Given the description of an element on the screen output the (x, y) to click on. 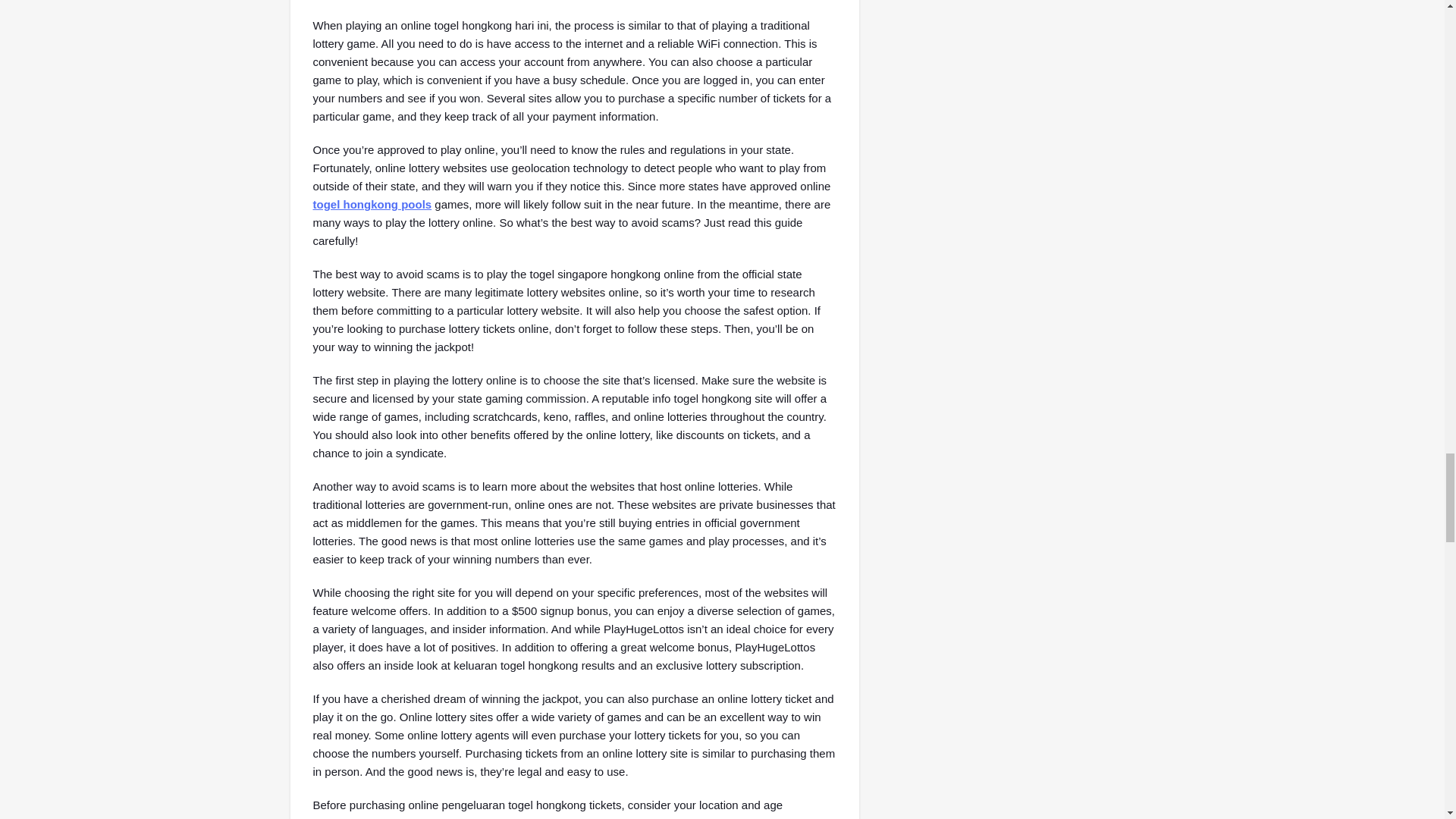
togel hongkong pools (371, 204)
